Given the description of an element on the screen output the (x, y) to click on. 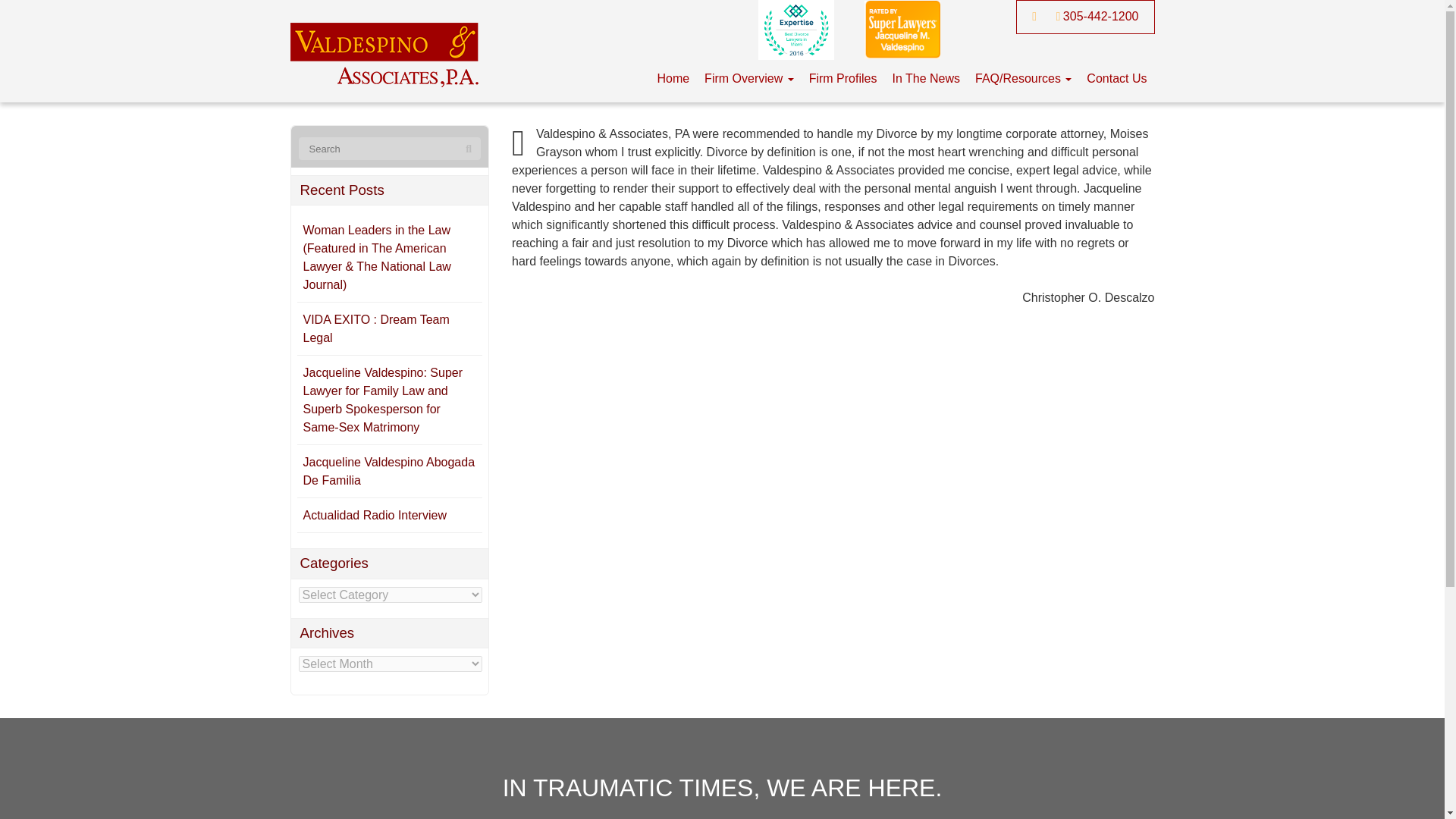
Firm Profiles (843, 78)
In The News (925, 78)
Search (468, 149)
Home (673, 78)
Jacqueline Valdespino Abogada De Familia (389, 470)
VIDA EXITO : Dream Team Legal (375, 327)
Contact Us (1116, 78)
Actualidad Radio Interview (374, 514)
Firm Overview (749, 78)
